Given the description of an element on the screen output the (x, y) to click on. 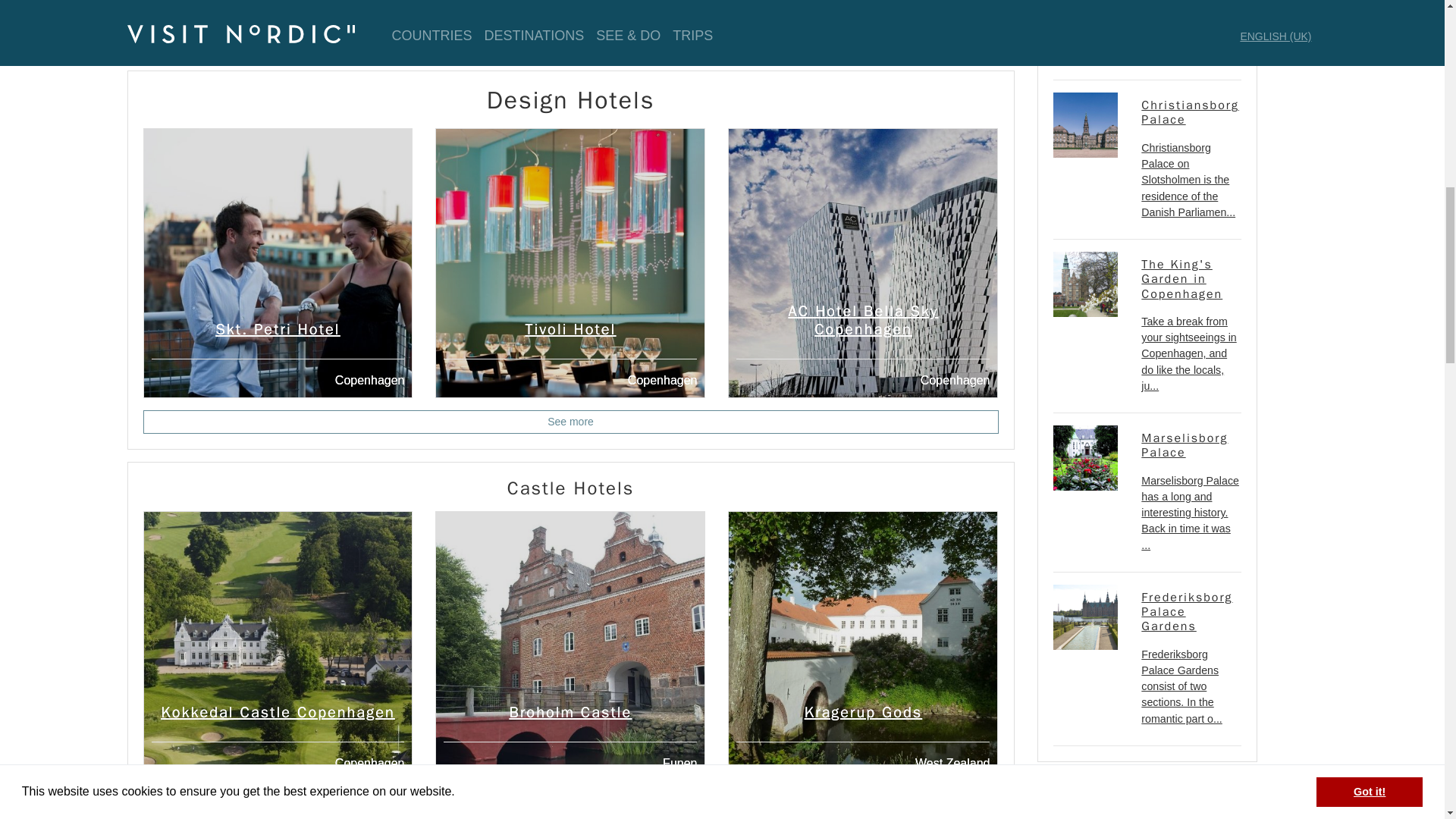
AC Hotel Bella Sky Copenhagen (863, 262)
Tivoli Hotel (569, 262)
AC Hotel Bella Sky Copenhagen (864, 320)
Skt. Petri Hotel (278, 262)
Tivoli Hotel (570, 329)
Skt. Petri Hotel (277, 329)
